Given the description of an element on the screen output the (x, y) to click on. 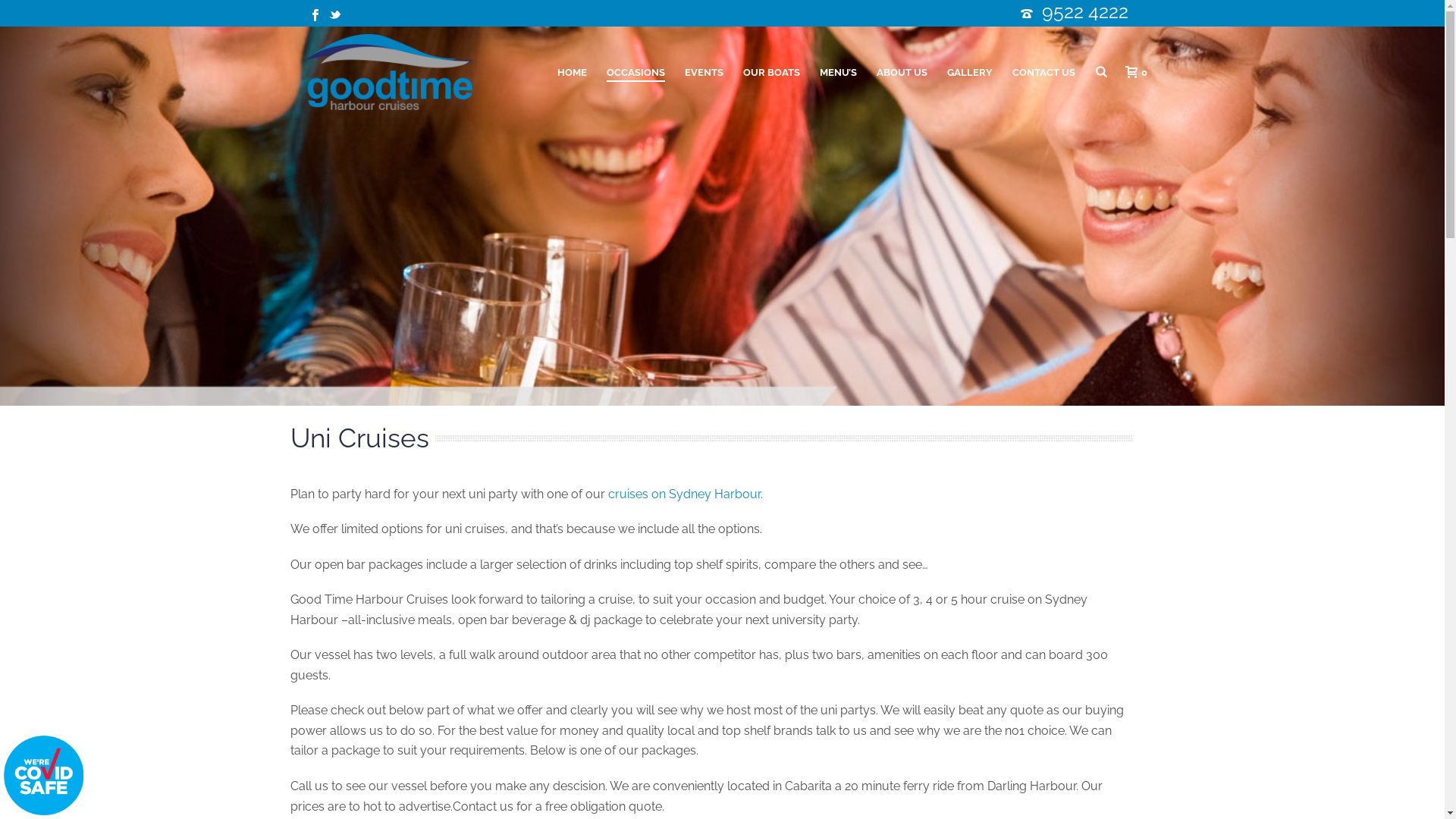
0 Element type: text (1132, 71)
CONTACT US Element type: text (1043, 72)
9522 4222 Element type: text (1084, 11)
ABOUT US Element type: text (901, 72)
GALLERY Element type: text (969, 72)
EVENTS Element type: text (703, 72)
cruises on Sydney Harbour Element type: text (684, 493)
OCCASIONS Element type: text (635, 72)
HOME Element type: text (571, 72)
OUR BOATS Element type: text (771, 72)
